Given the description of an element on the screen output the (x, y) to click on. 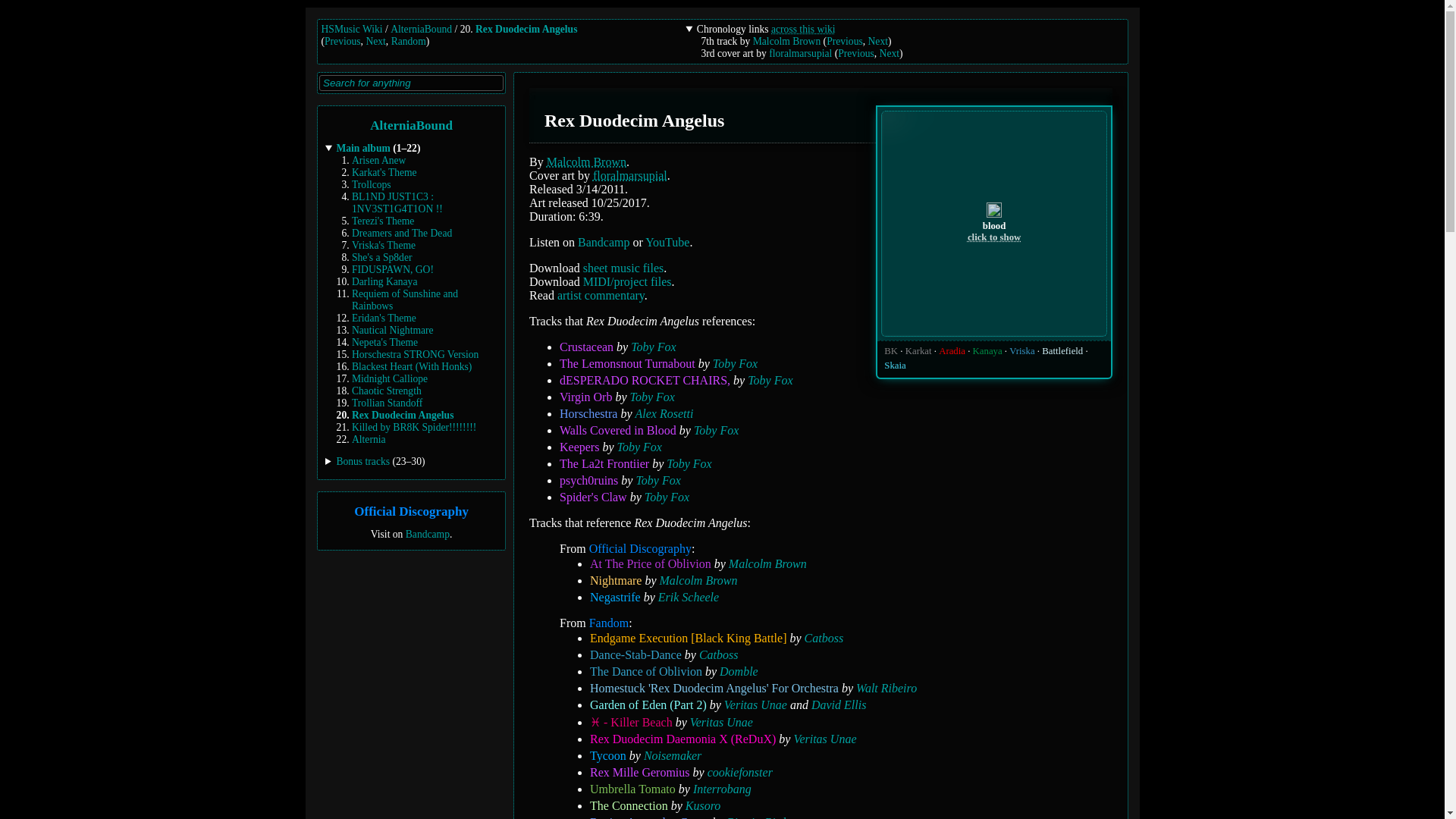
Lite-Brite (889, 52)
HSMusic Wiki (351, 29)
Next (889, 52)
across this wiki (803, 29)
She's a Sp8der (382, 256)
BL1ND JUST1C3 : 1NV3ST1G4T1ON !! (397, 202)
Malcolm Brown (786, 41)
Trollcops (371, 184)
Darling Kanaya (384, 281)
Terezi's Theme (382, 220)
Arisen Anew (379, 160)
Vriska's Theme (383, 244)
Previous (856, 52)
Next (877, 41)
Previous (342, 41)
